Given the description of an element on the screen output the (x, y) to click on. 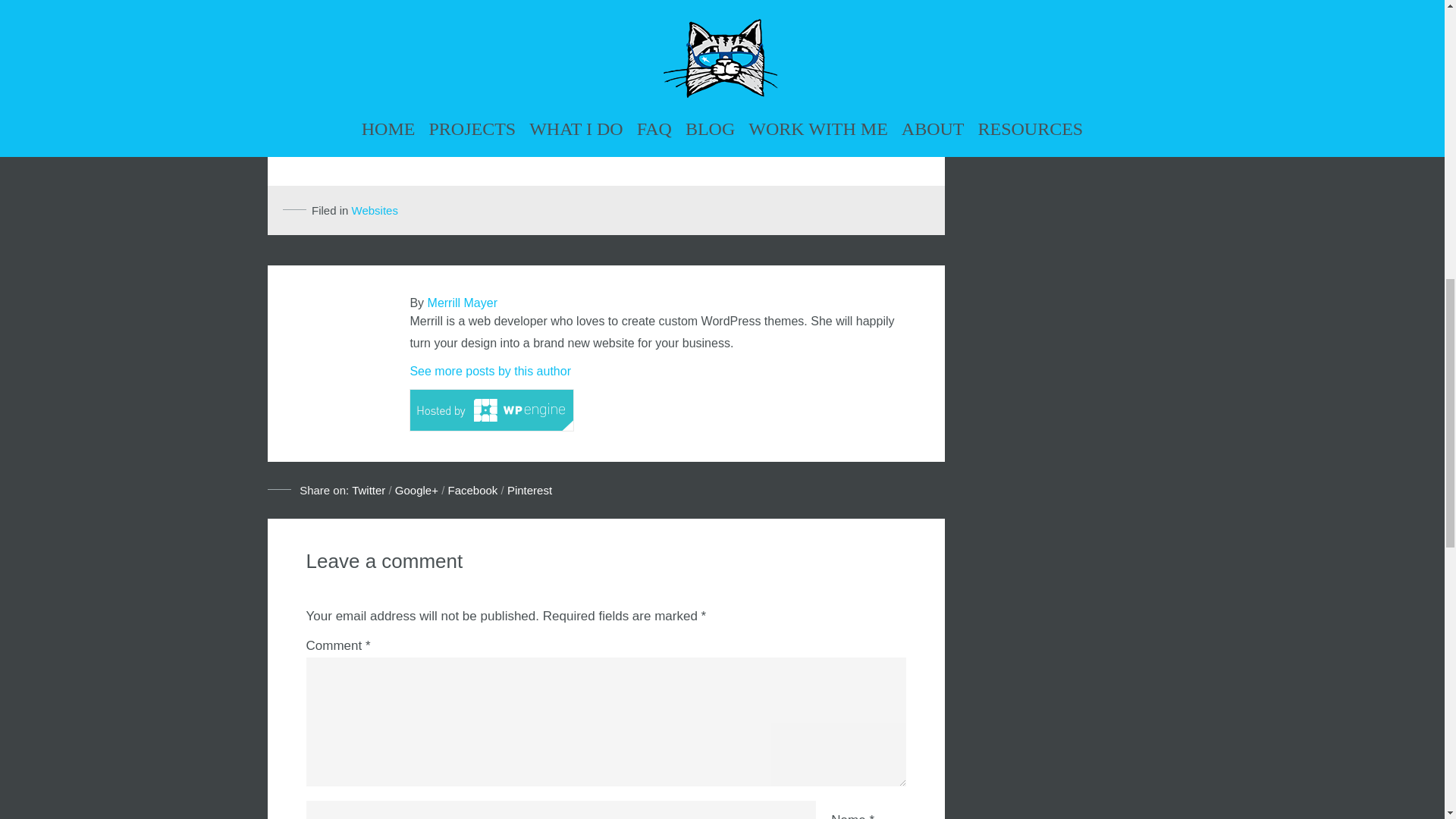
Twitter (368, 490)
Mobile Friendly Websites (471, 490)
mobile first indexing (551, 37)
Websites (374, 210)
Pinterest (528, 490)
Facebook (471, 490)
See more posts by this author (489, 370)
Merrill Mayer (462, 302)
Mobile Friendly Websites (368, 490)
Merrill Mayer (462, 302)
